Given the description of an element on the screen output the (x, y) to click on. 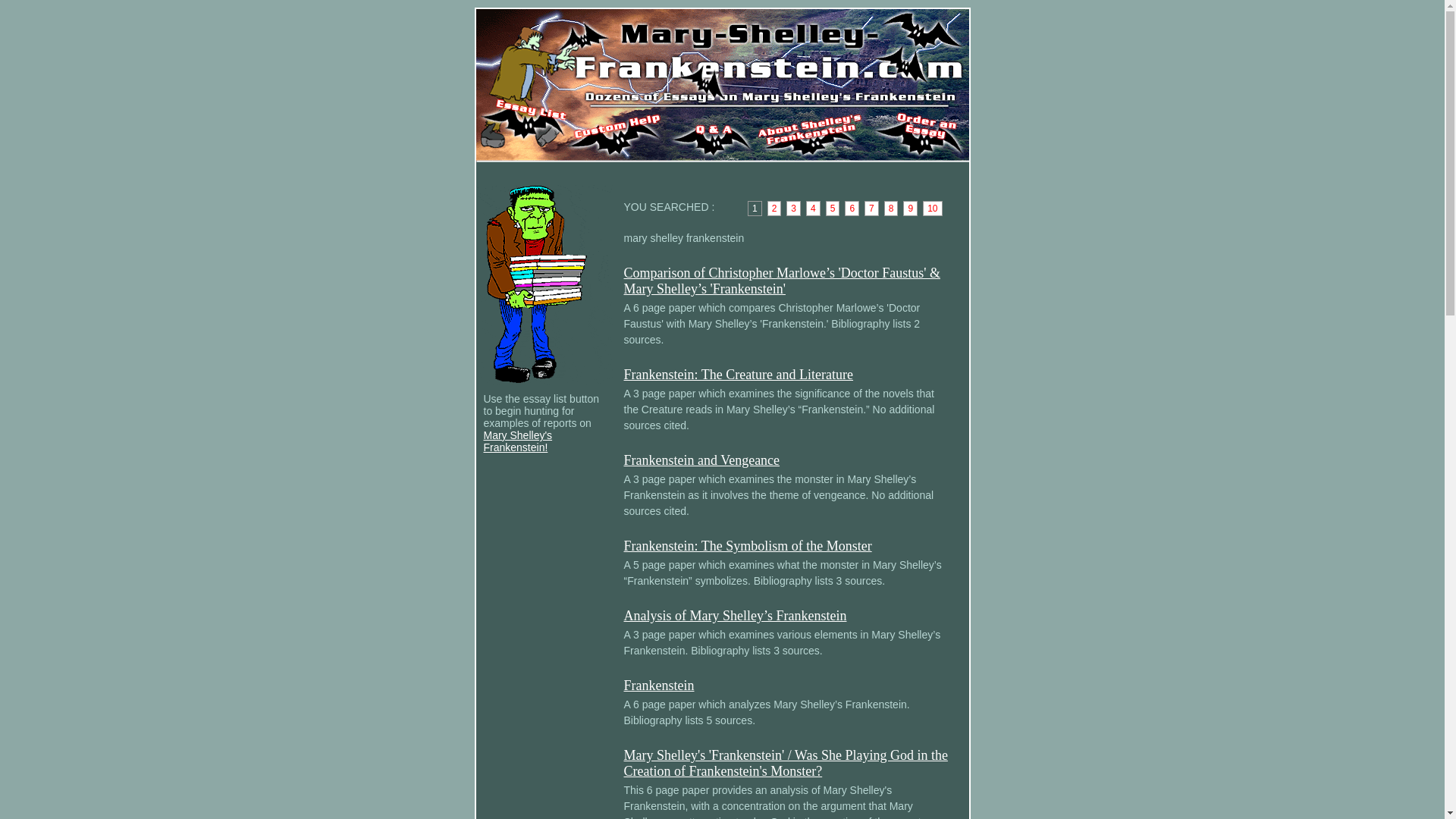
1 (754, 208)
Order an Essay (917, 131)
4 (813, 208)
Mary Shelley's Frankenstein! (518, 441)
2 (774, 208)
Frankenstein and Vengeance (700, 459)
Page 9 (909, 208)
7 (871, 208)
Frankenstein: The Creature and Literature (738, 374)
Frankenstein: The Symbolism of the Monster (746, 545)
8 (890, 208)
Custom Help (617, 131)
Page 3 (793, 208)
3 (793, 208)
Page 7 (871, 208)
